Given the description of an element on the screen output the (x, y) to click on. 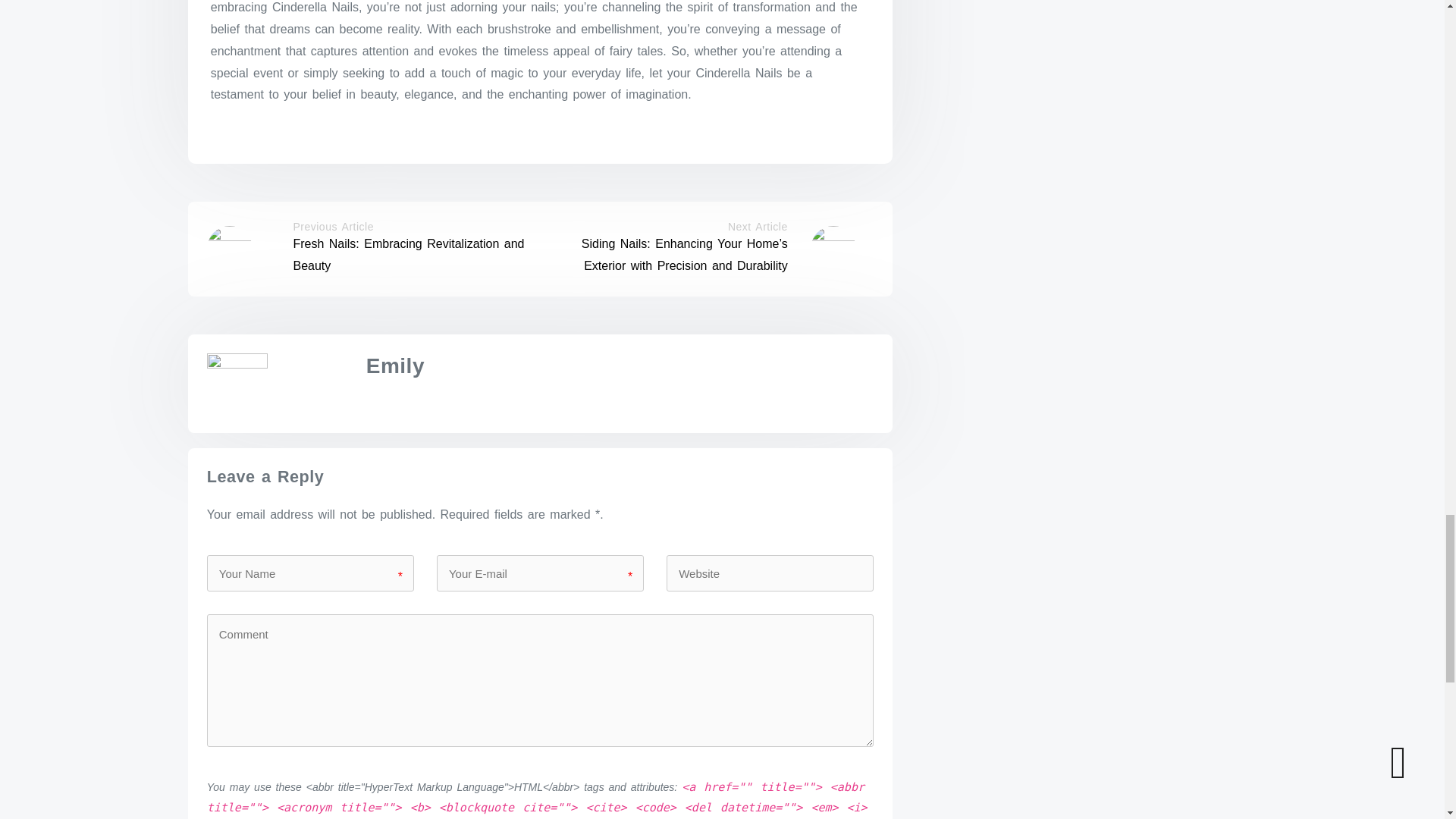
Fresh Nails: Embracing Revitalization and Beauty (408, 254)
